Given the description of an element on the screen output the (x, y) to click on. 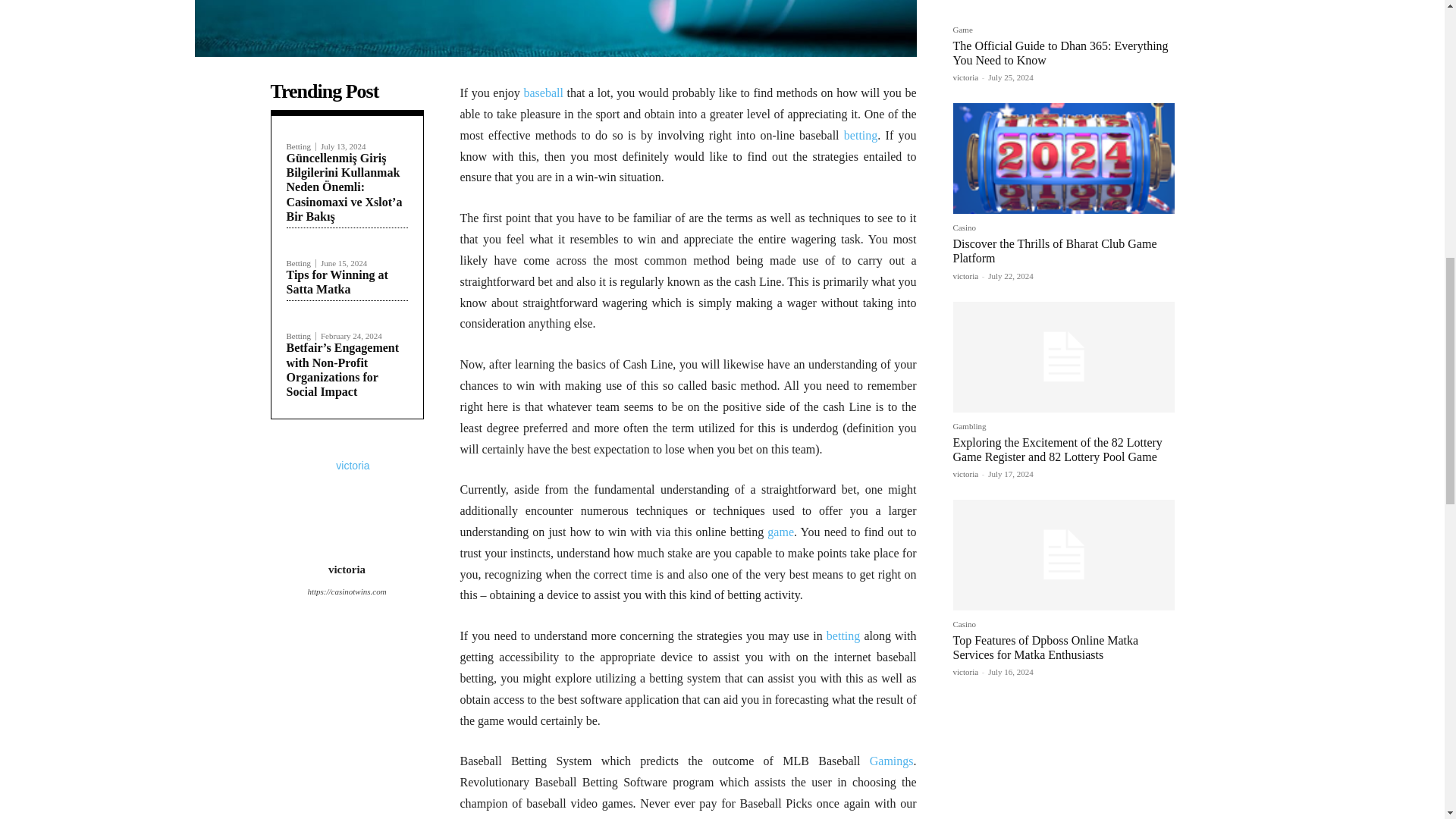
Betting (300, 146)
